Given the description of an element on the screen output the (x, y) to click on. 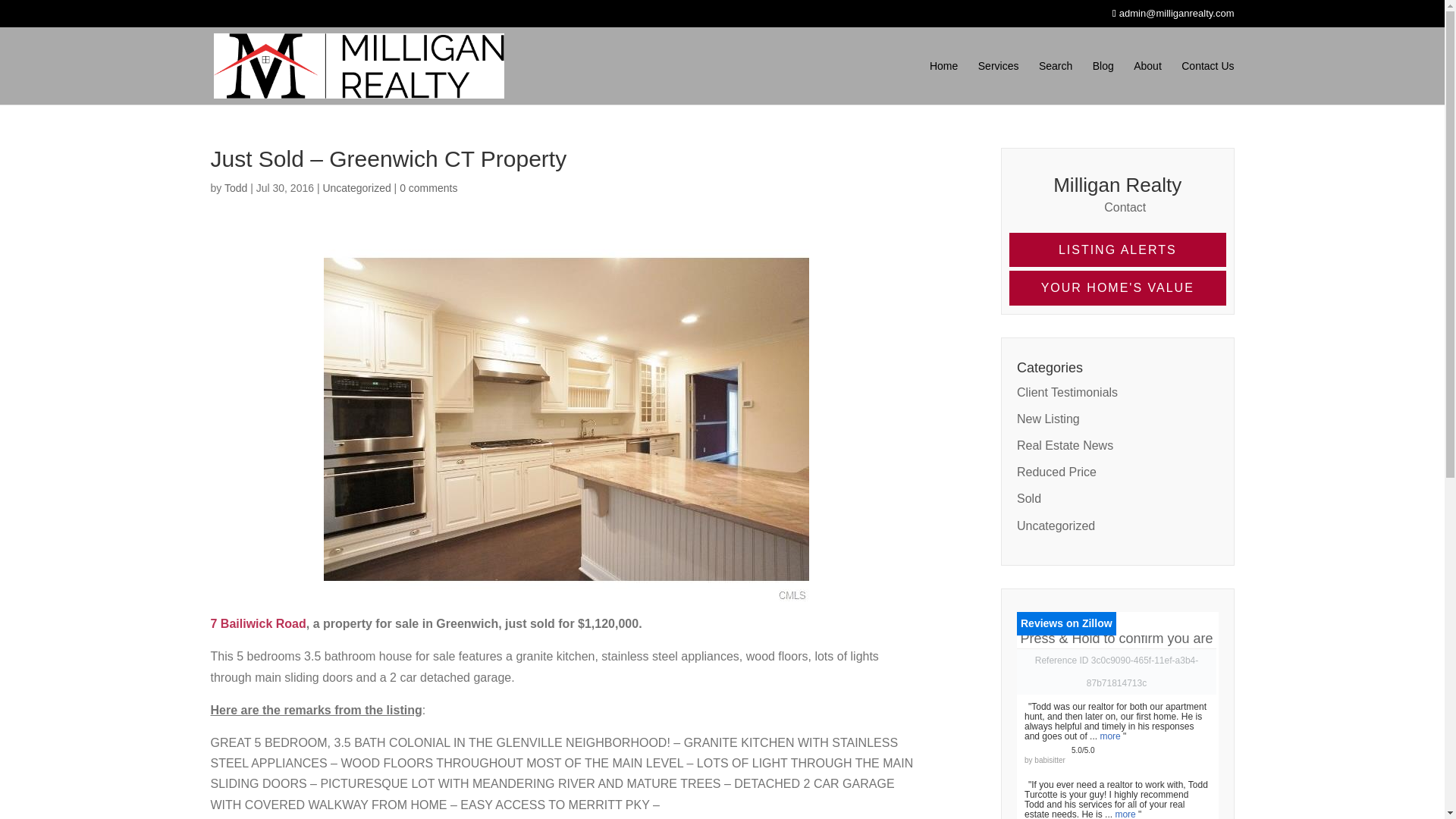
Services (998, 82)
Posts by Todd (235, 187)
View Map (258, 623)
Contact Us (1206, 82)
